Given the description of an element on the screen output the (x, y) to click on. 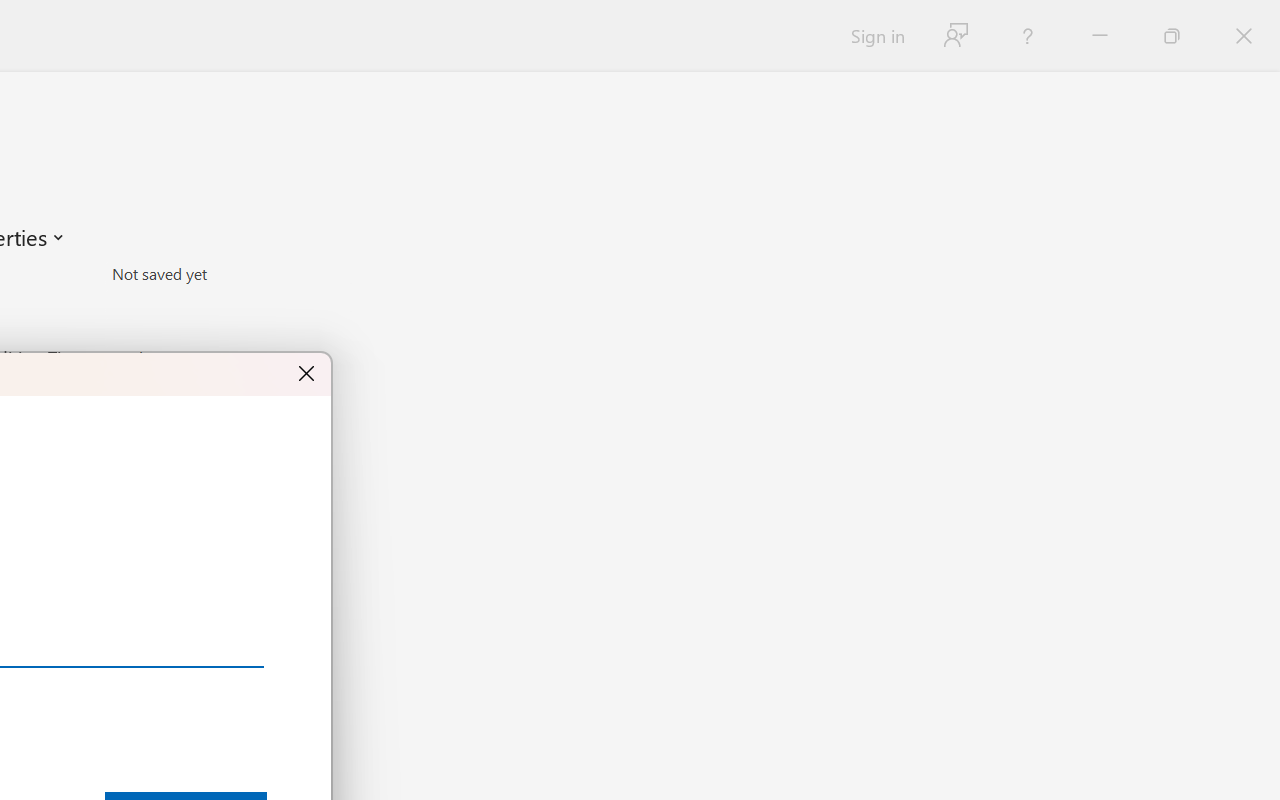
Words (228, 330)
Sign in (875, 35)
Size (228, 274)
Pages (228, 301)
